Given the description of an element on the screen output the (x, y) to click on. 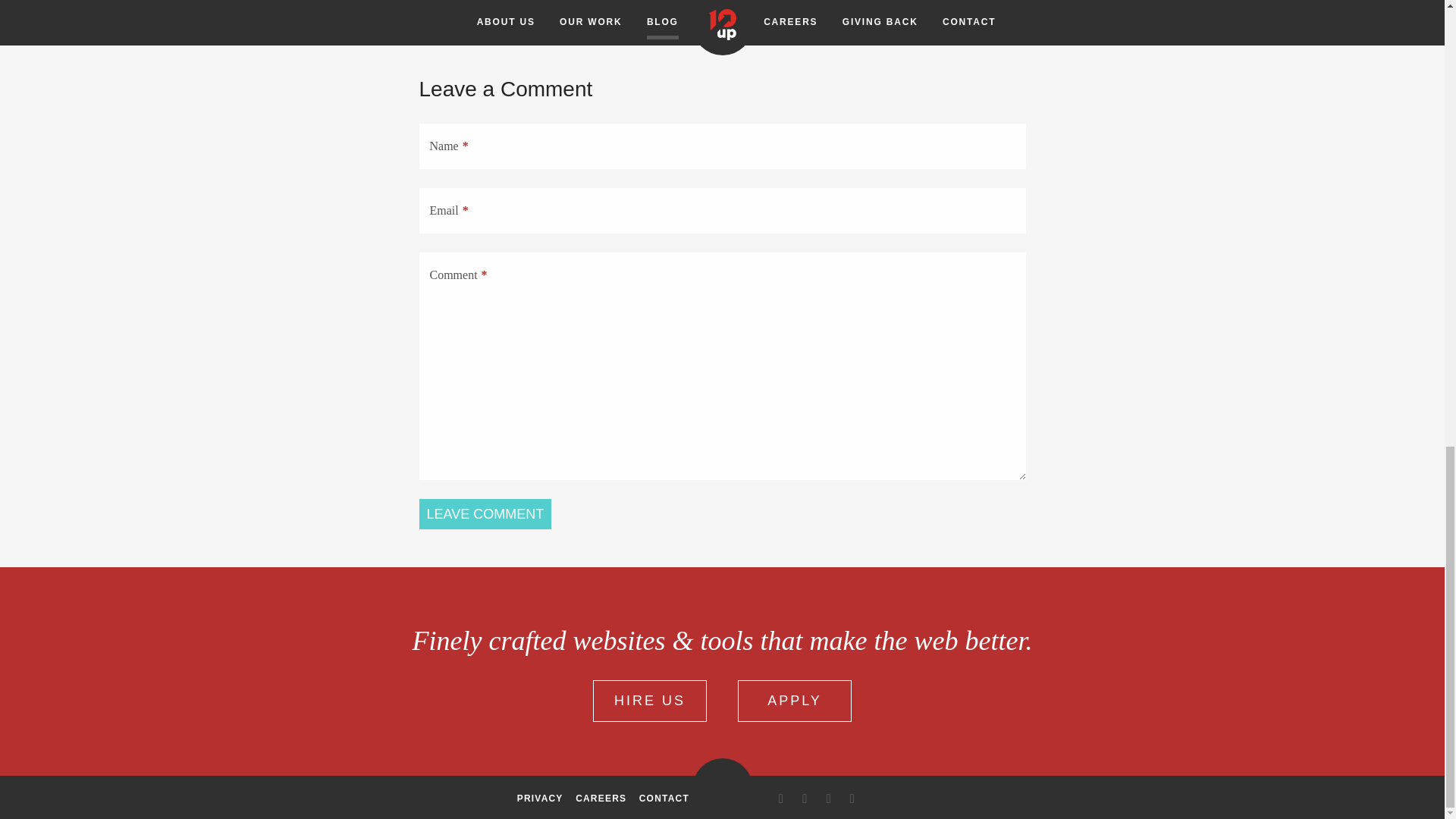
APPLY (794, 700)
Leave Comment (485, 513)
HIRE US (649, 700)
Leave Comment (485, 513)
